Given the description of an element on the screen output the (x, y) to click on. 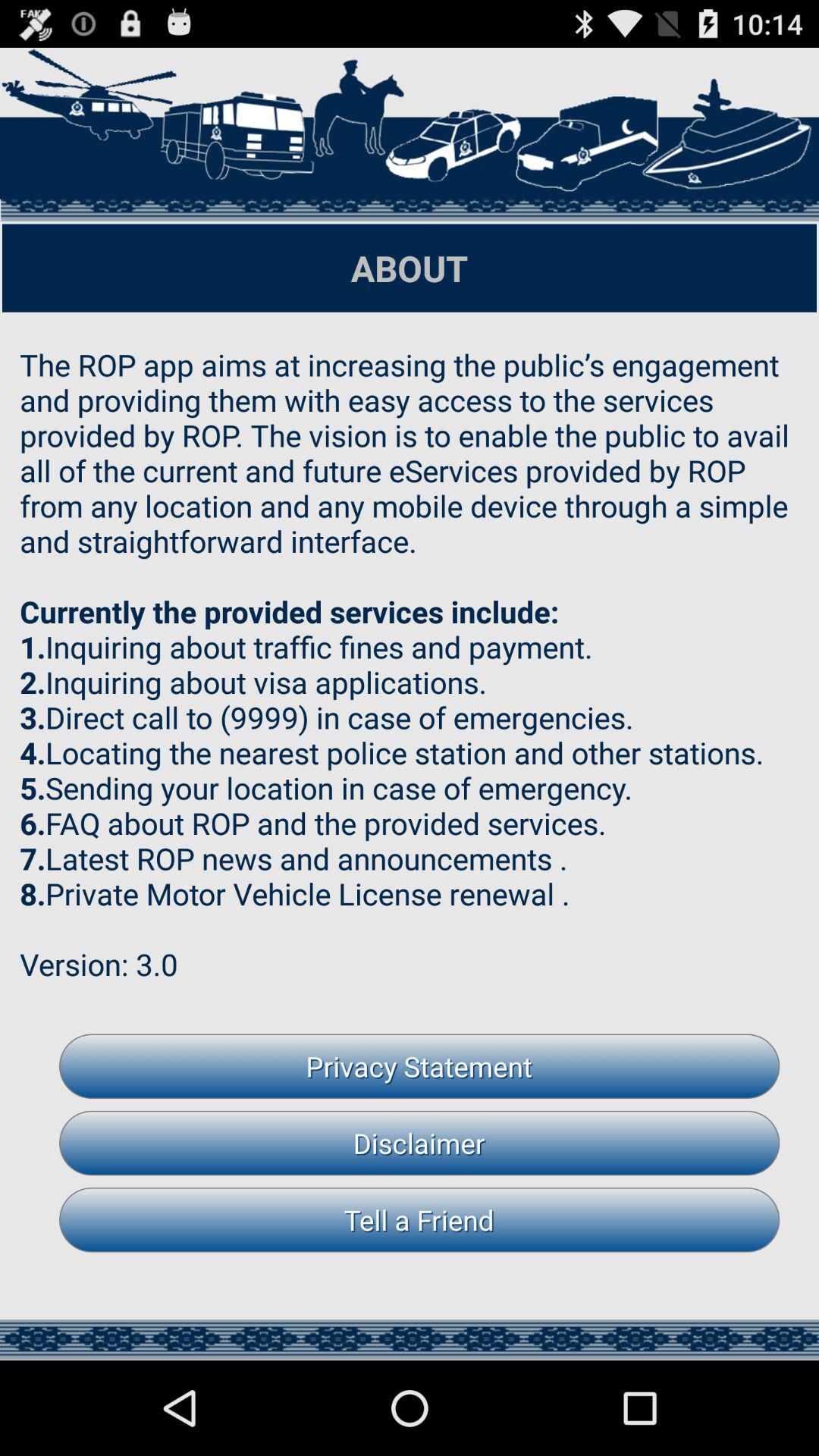
choose the privacy statement button (419, 1065)
